Given the description of an element on the screen output the (x, y) to click on. 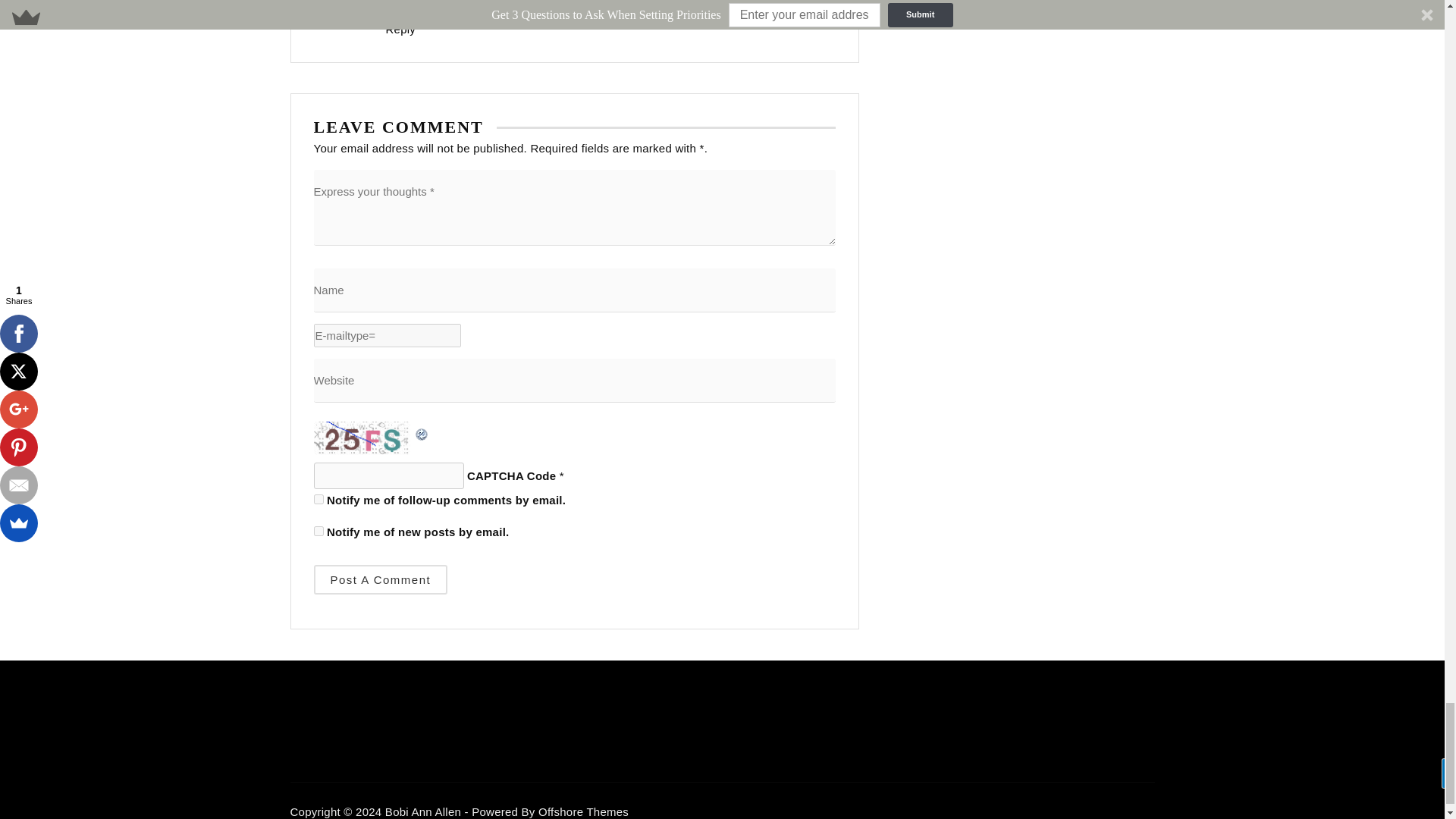
subscribe (318, 531)
CAPTCHA (363, 437)
Refresh (421, 431)
Post A Comment (381, 579)
subscribe (318, 499)
